Given the description of an element on the screen output the (x, y) to click on. 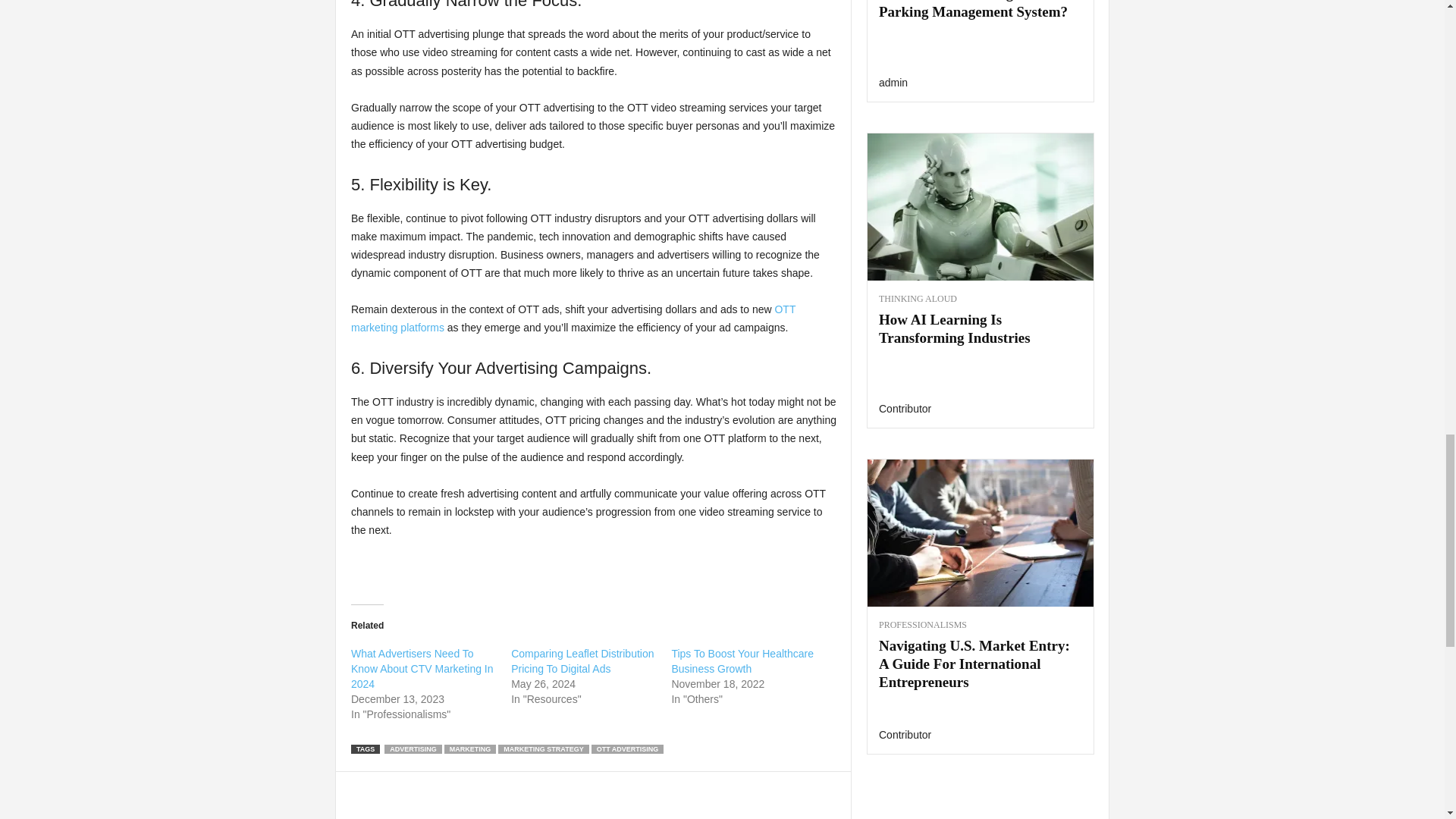
What Advertisers Need To Know About CTV Marketing In 2024 (421, 668)
Tips To Boost Your Healthcare Business Growth (742, 660)
What Advertisers Need To Know About CTV Marketing In 2024 (421, 668)
MARKETING (470, 748)
OTT ADVERTISING (627, 748)
Comparing Leaflet Distribution Pricing To Digital Ads (582, 660)
Comparing Leaflet Distribution Pricing To Digital Ads (582, 660)
Tips To Boost Your Healthcare Business Growth (742, 660)
bottomFacebookLike (390, 787)
ADVERTISING (413, 748)
